Given the description of an element on the screen output the (x, y) to click on. 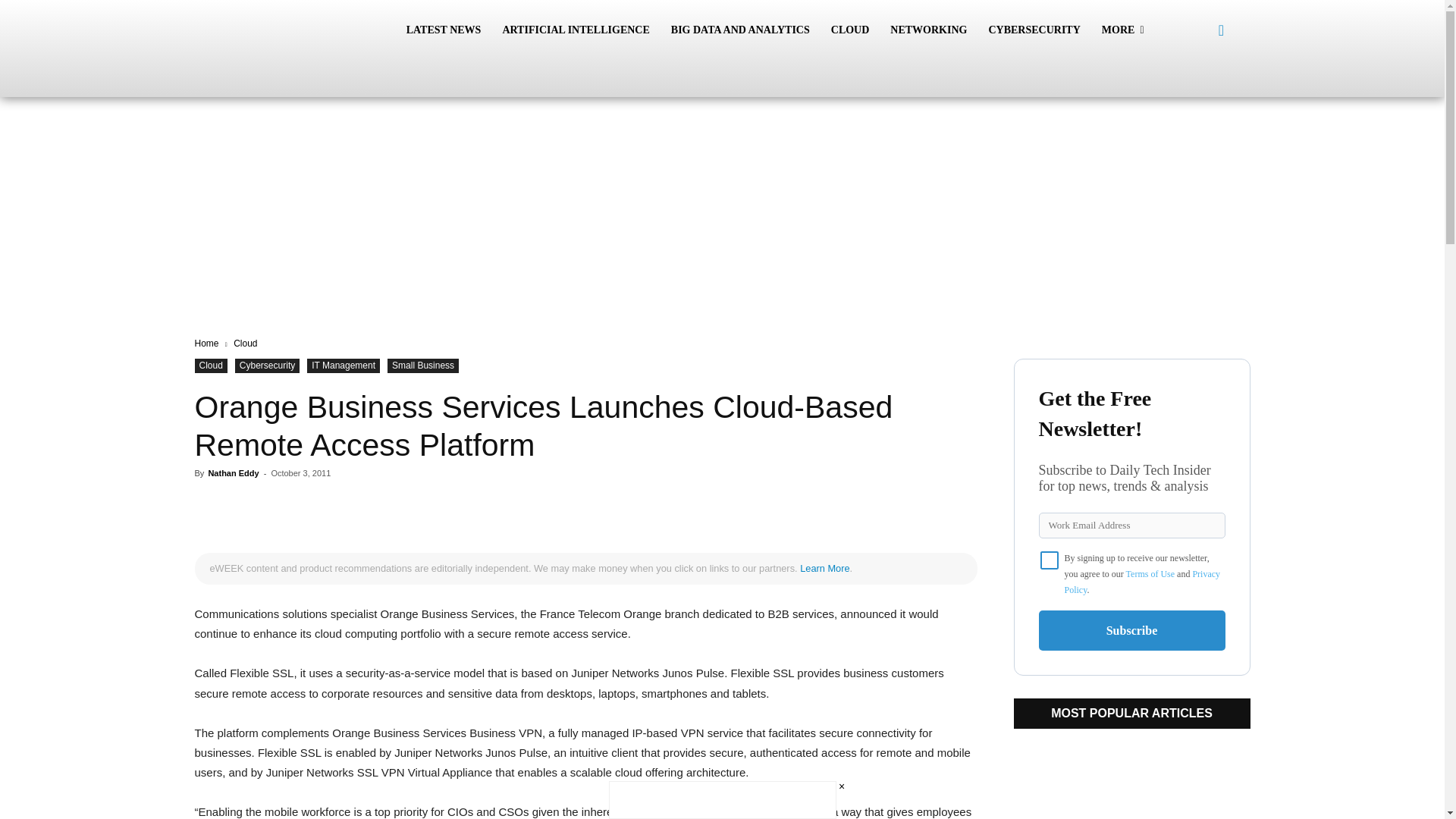
ARTIFICIAL INTELLIGENCE (575, 30)
CYBERSECURITY (1033, 30)
LATEST NEWS (444, 30)
NETWORKING (927, 30)
on (1049, 560)
BIG DATA AND ANALYTICS (741, 30)
CLOUD (850, 30)
